Given the description of an element on the screen output the (x, y) to click on. 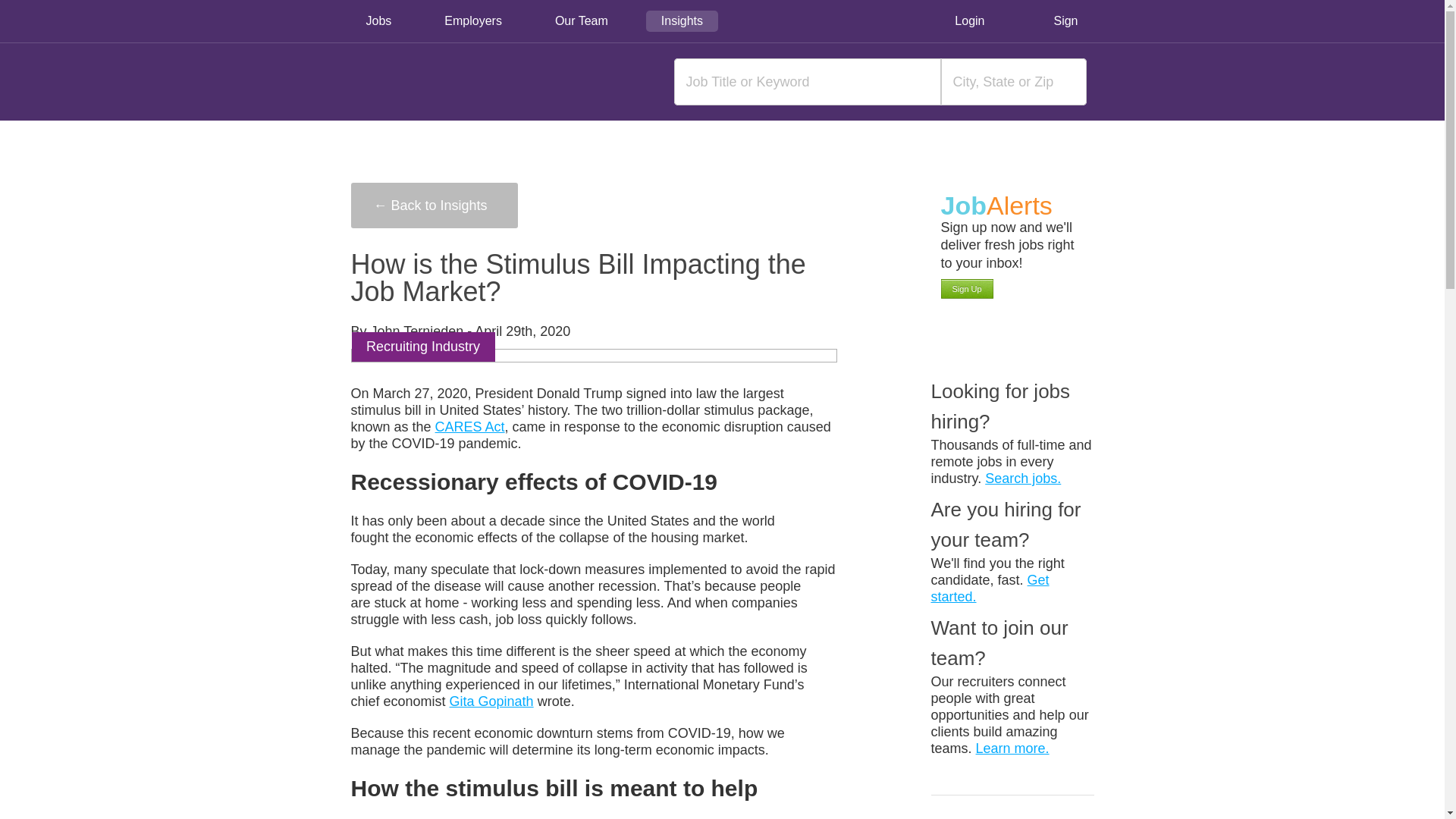
Our Team (581, 21)
Employers (472, 21)
Gita Gopinath (491, 701)
Sign Up (967, 289)
Learn more. (1012, 748)
Jobs (378, 21)
Insights (681, 20)
Search jobs. (1023, 478)
Get started. (990, 588)
CARES Act (470, 426)
